Given the description of an element on the screen output the (x, y) to click on. 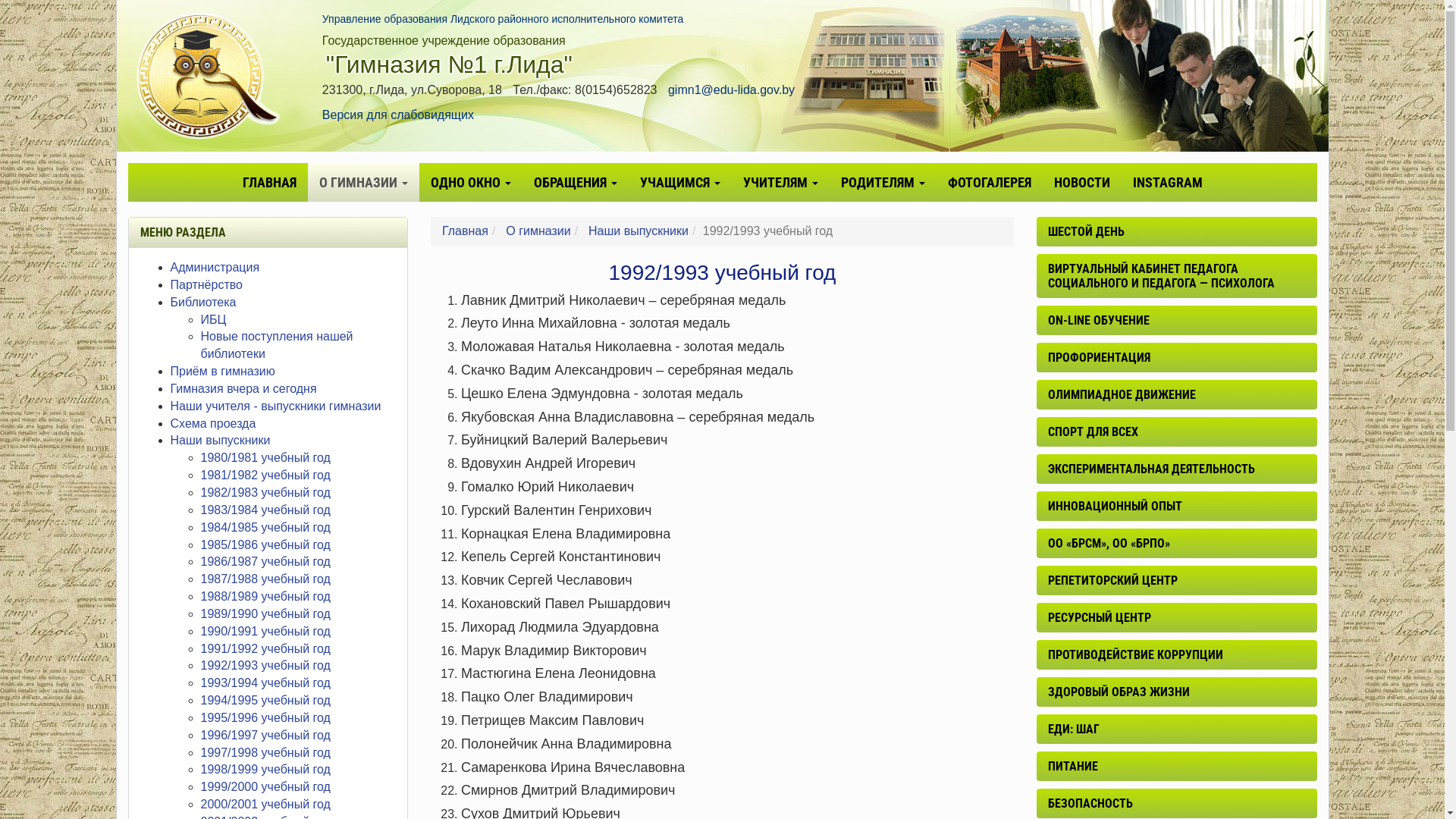
gimn1@edu-lida.gov.by Element type: text (731, 89)
INSTAGRAM Element type: text (1166, 182)
